Given the description of an element on the screen output the (x, y) to click on. 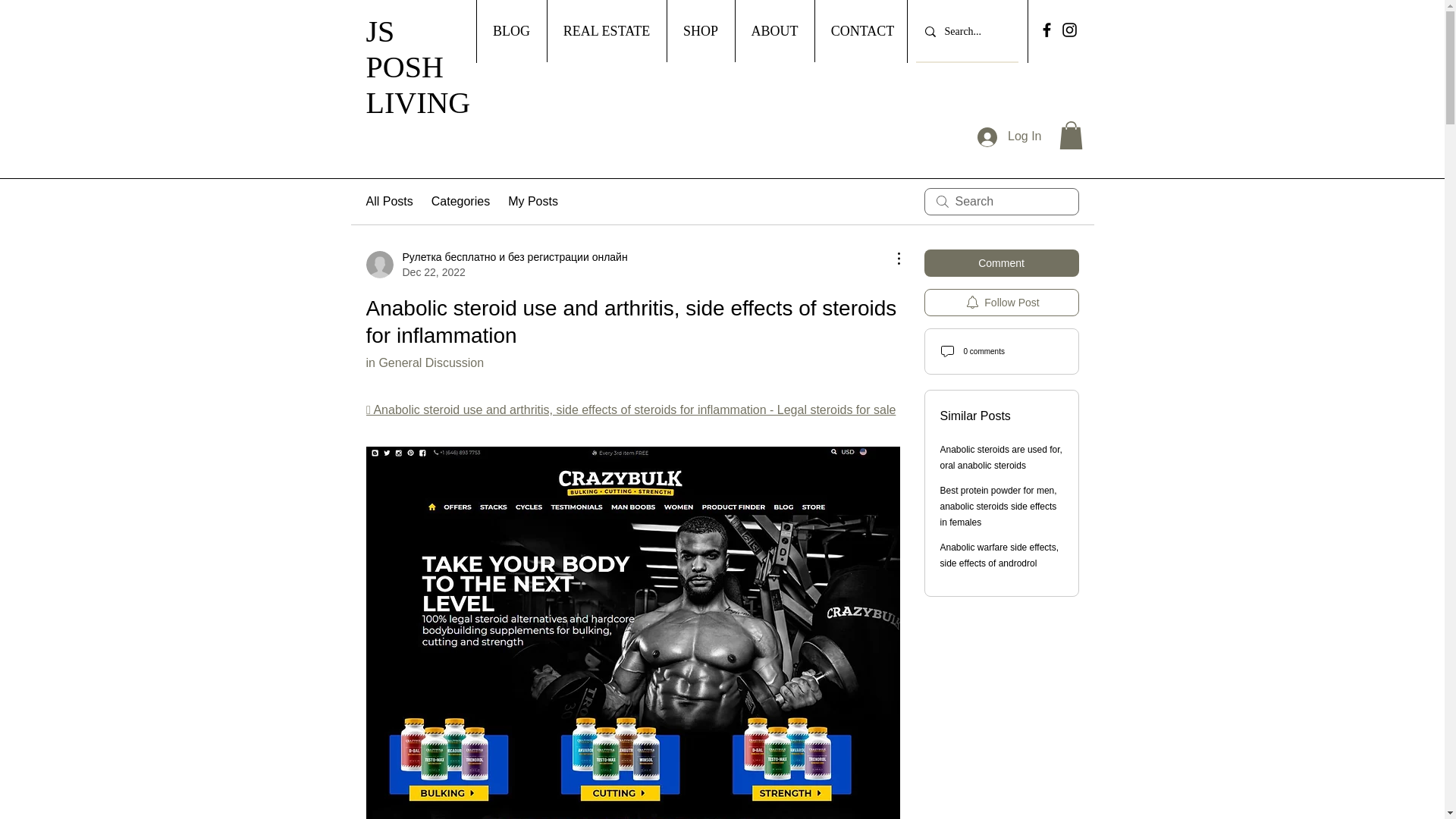
Categories (459, 201)
SHOP (699, 31)
Anabolic warfare side effects, side effects of androdrol (999, 555)
JS POSH (403, 49)
BLOG (511, 31)
Log In (1008, 136)
Comment (1000, 262)
CONTACT (862, 31)
My Posts (532, 201)
All Posts (388, 201)
